Given the description of an element on the screen output the (x, y) to click on. 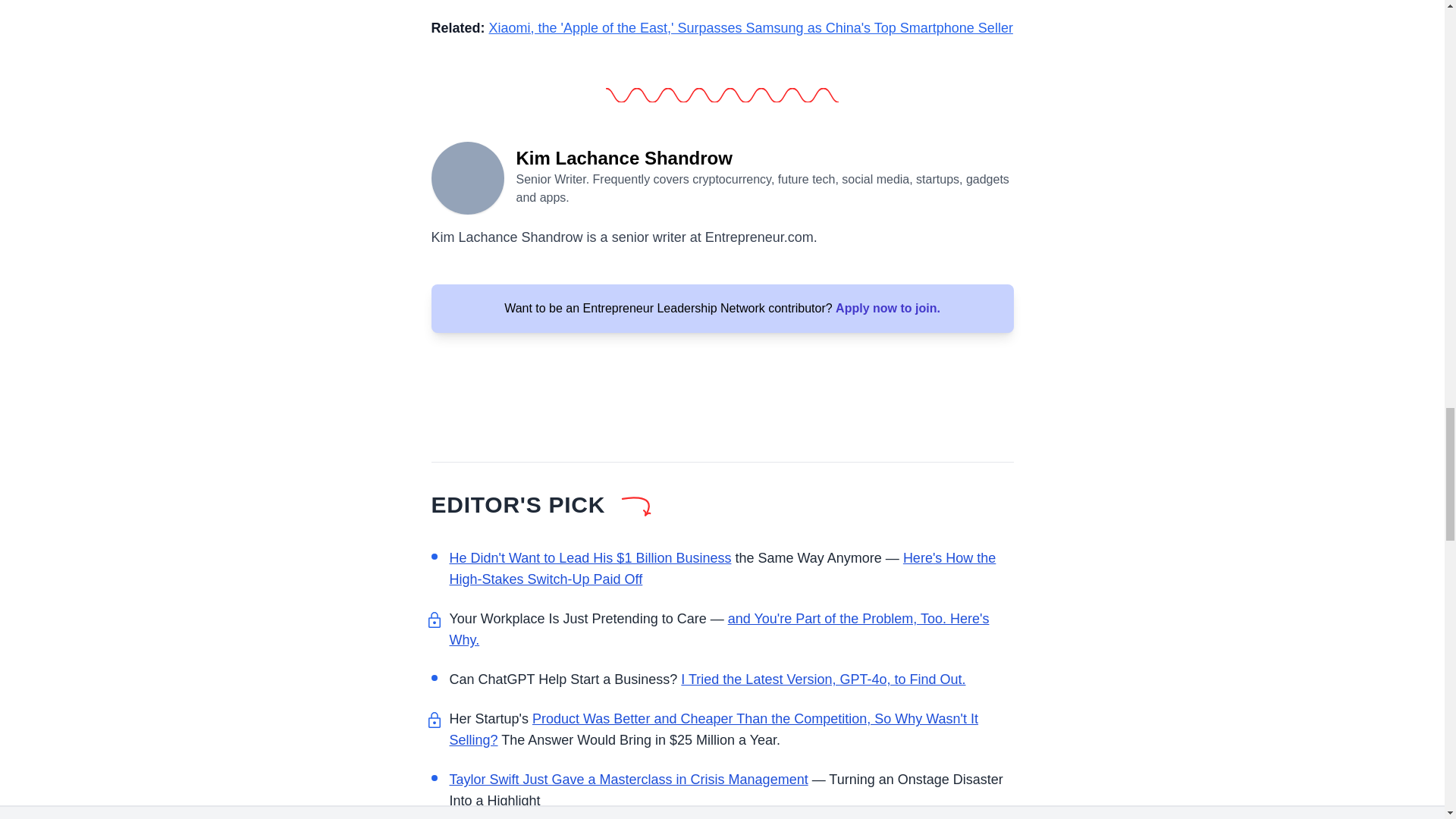
Kim Lachance Shandrow (466, 176)
